Given the description of an element on the screen output the (x, y) to click on. 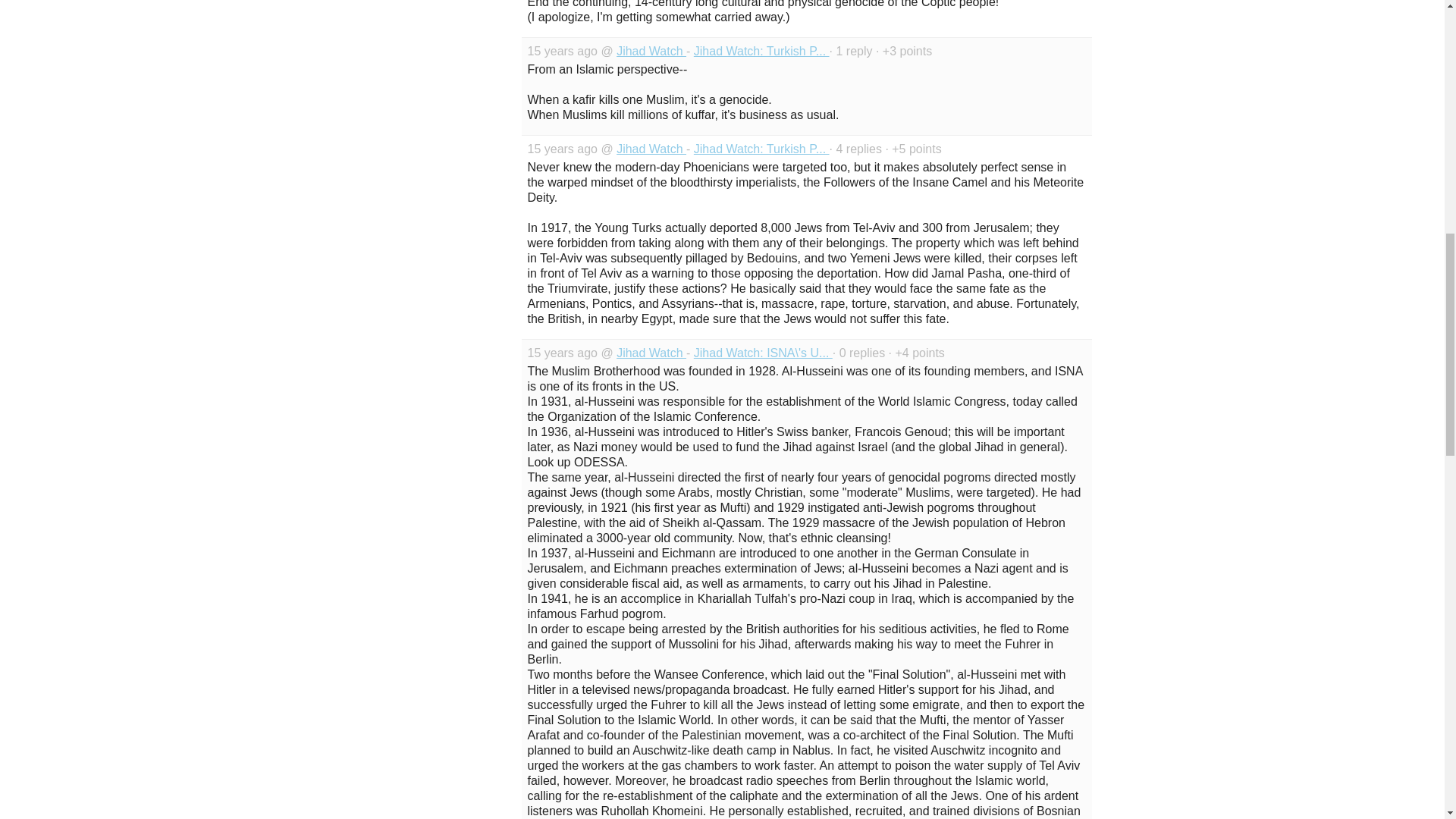
Jihad Watch (650, 51)
Jihad Watch (650, 148)
Jihad Watch: Turkish P... (761, 51)
Jihad Watch (650, 352)
Jihad Watch: Turkish P... (761, 148)
